Given the description of an element on the screen output the (x, y) to click on. 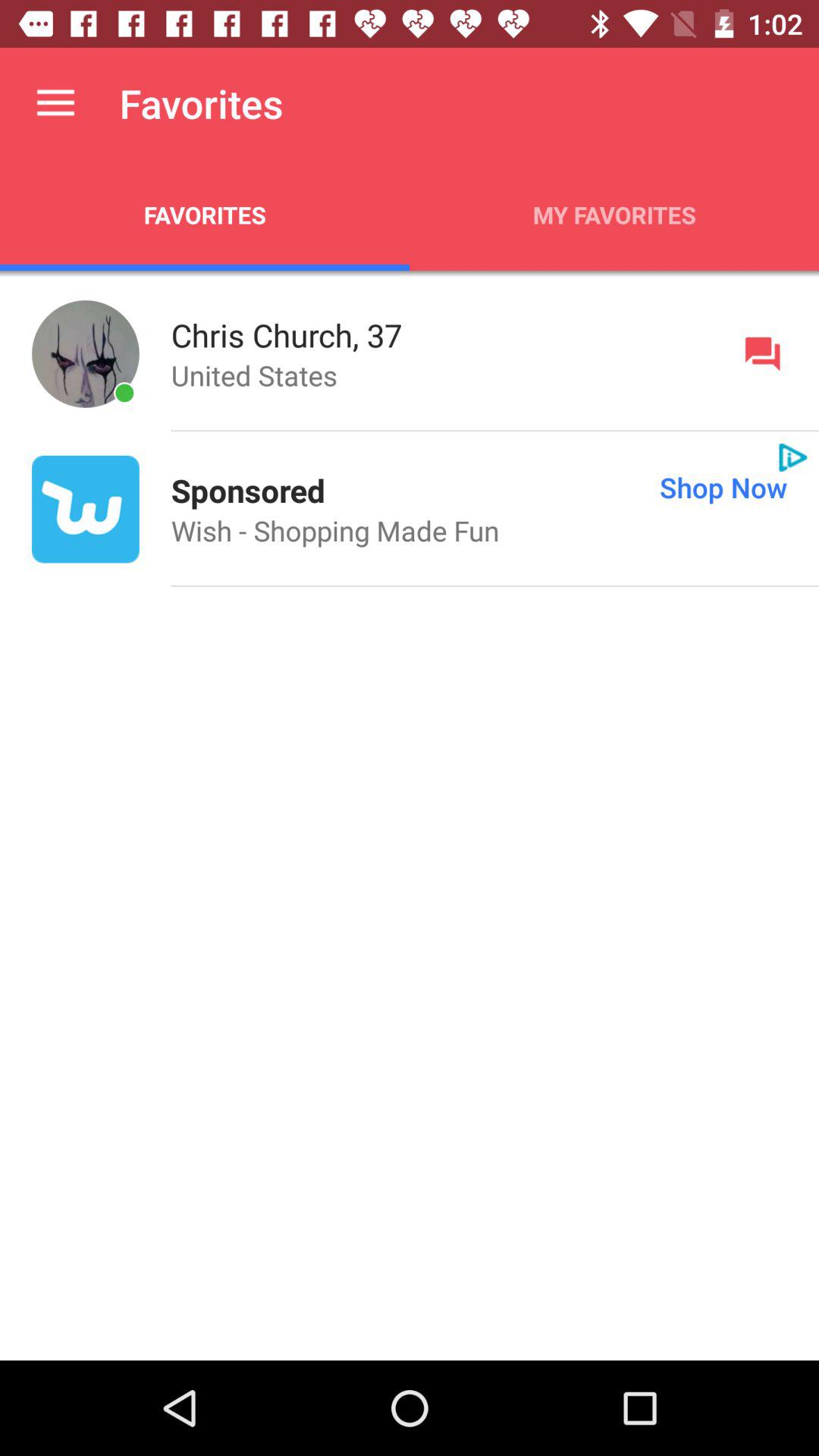
tap the app to the left of shop now icon (248, 489)
